Given the description of an element on the screen output the (x, y) to click on. 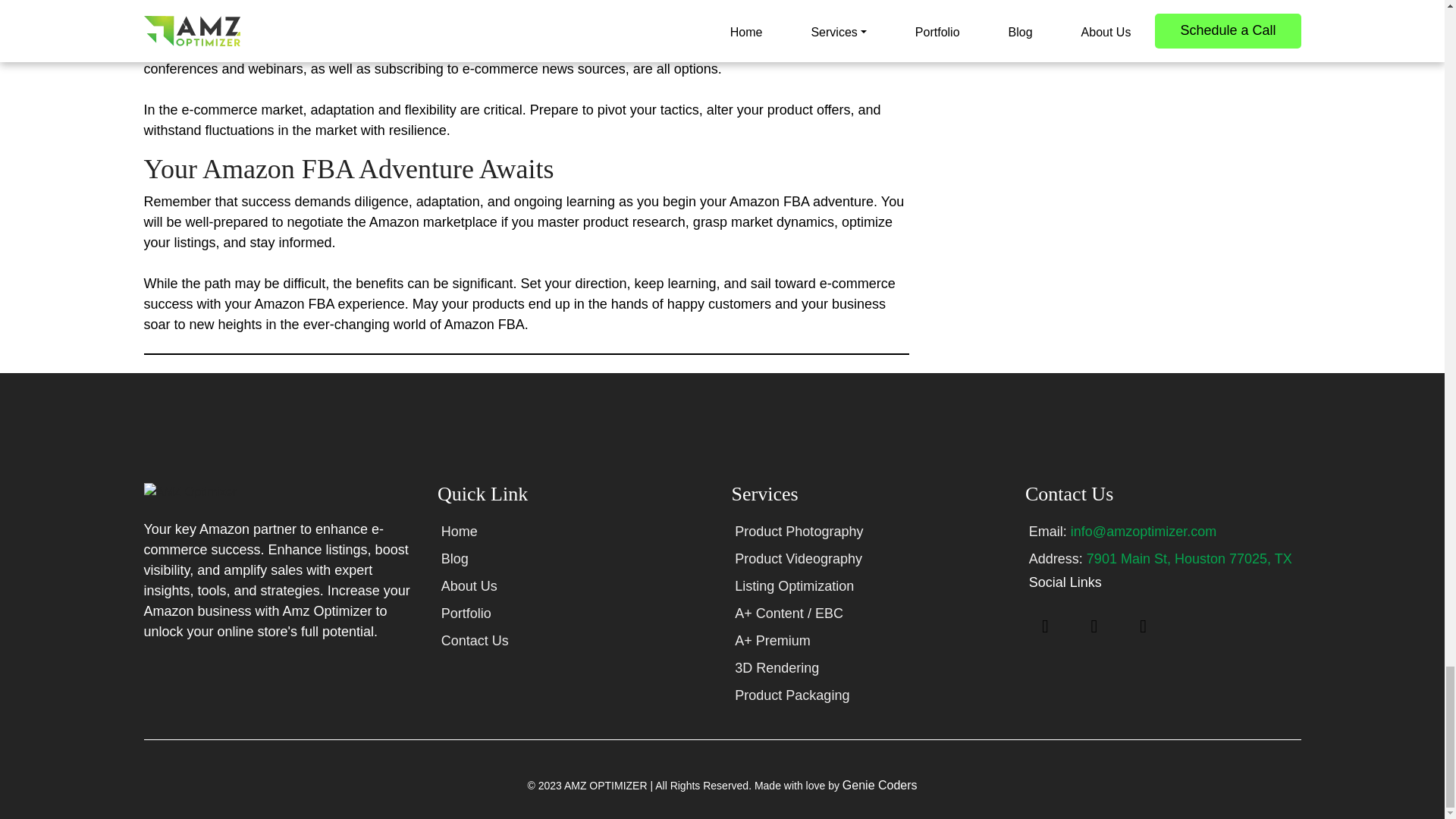
Listing Optimization (794, 585)
Blog (454, 558)
About Us (469, 585)
Product Photography (799, 531)
7901 Main St, Houston 77025, TX (1189, 558)
3D Rendering (776, 667)
Product Videography (798, 558)
Contact Us (474, 640)
Product Packaging (791, 694)
Home (459, 531)
